Given the description of an element on the screen output the (x, y) to click on. 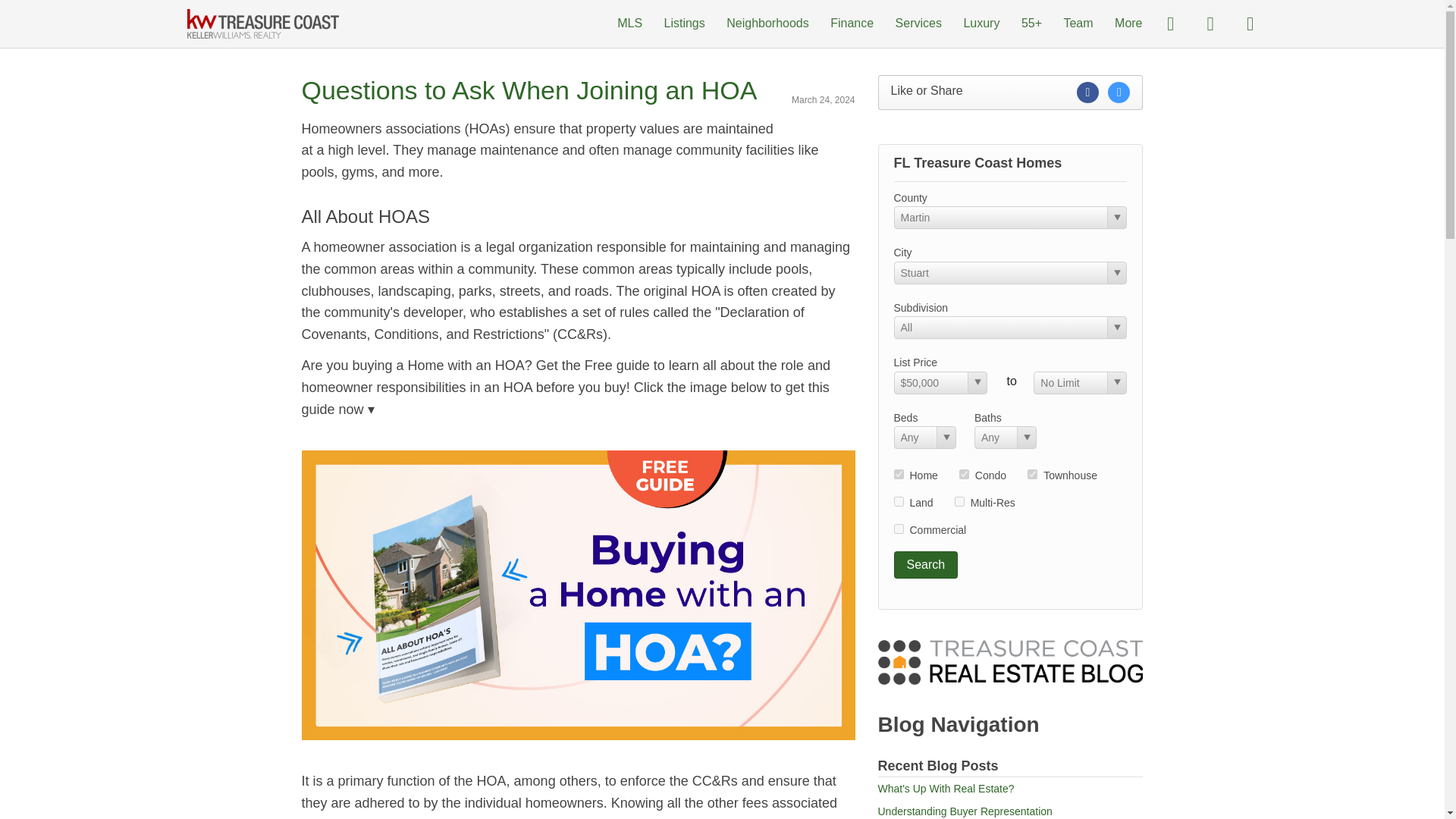
More (1128, 22)
Neighborhoods (767, 22)
Team (1077, 22)
Questions to Ask When Joining an HOA (529, 90)
mul (959, 501)
Like or Share (1009, 92)
con (964, 474)
Understanding Buyer Representation (964, 811)
twn (1031, 474)
What's Up With Real Estate? (945, 788)
com (897, 528)
Blog Home (1009, 661)
Listings (683, 22)
Services (918, 22)
Finance (851, 22)
